Given the description of an element on the screen output the (x, y) to click on. 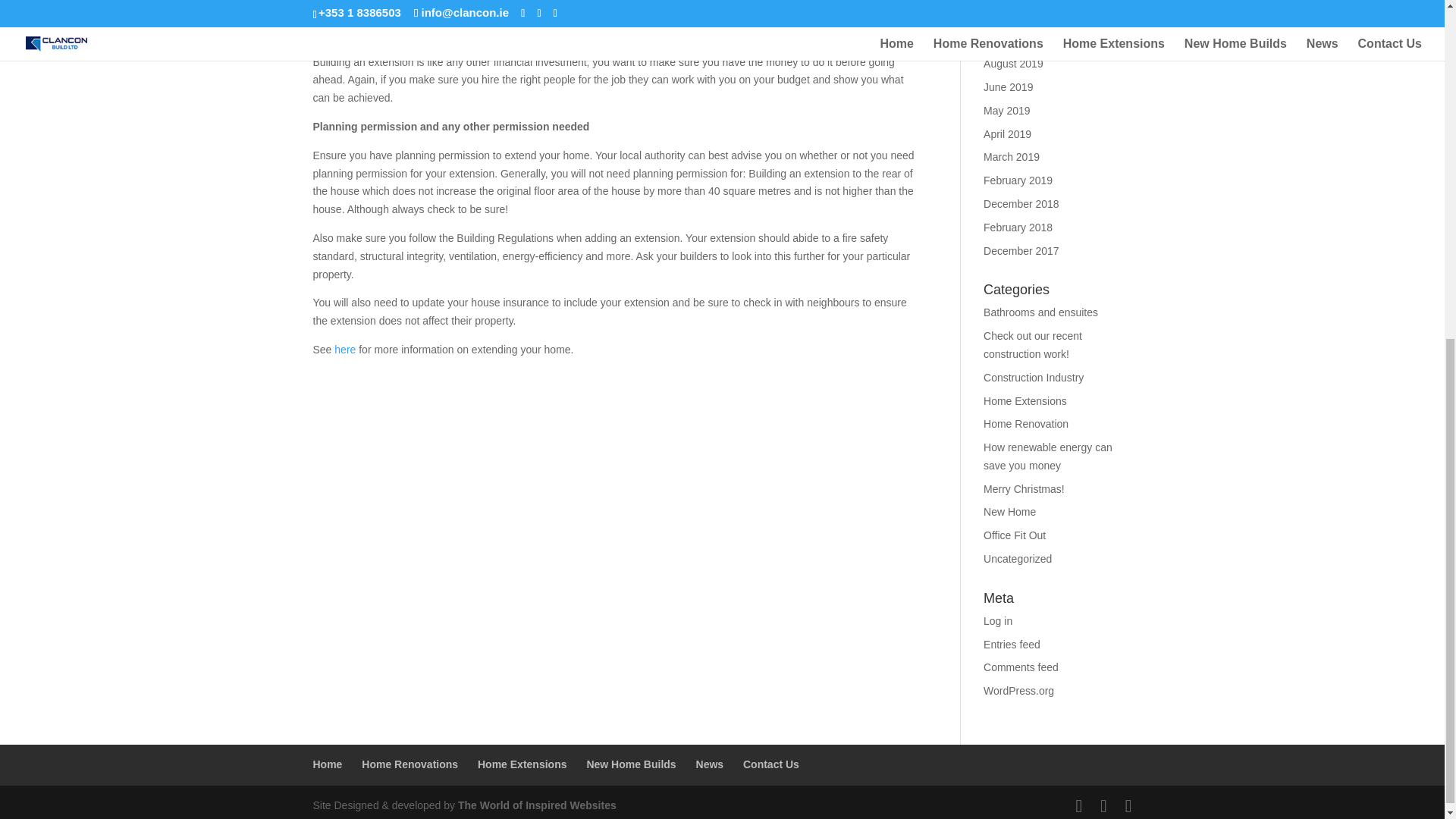
October 2019 (1016, 39)
January 2020 (1016, 17)
here (344, 349)
